Given the description of an element on the screen output the (x, y) to click on. 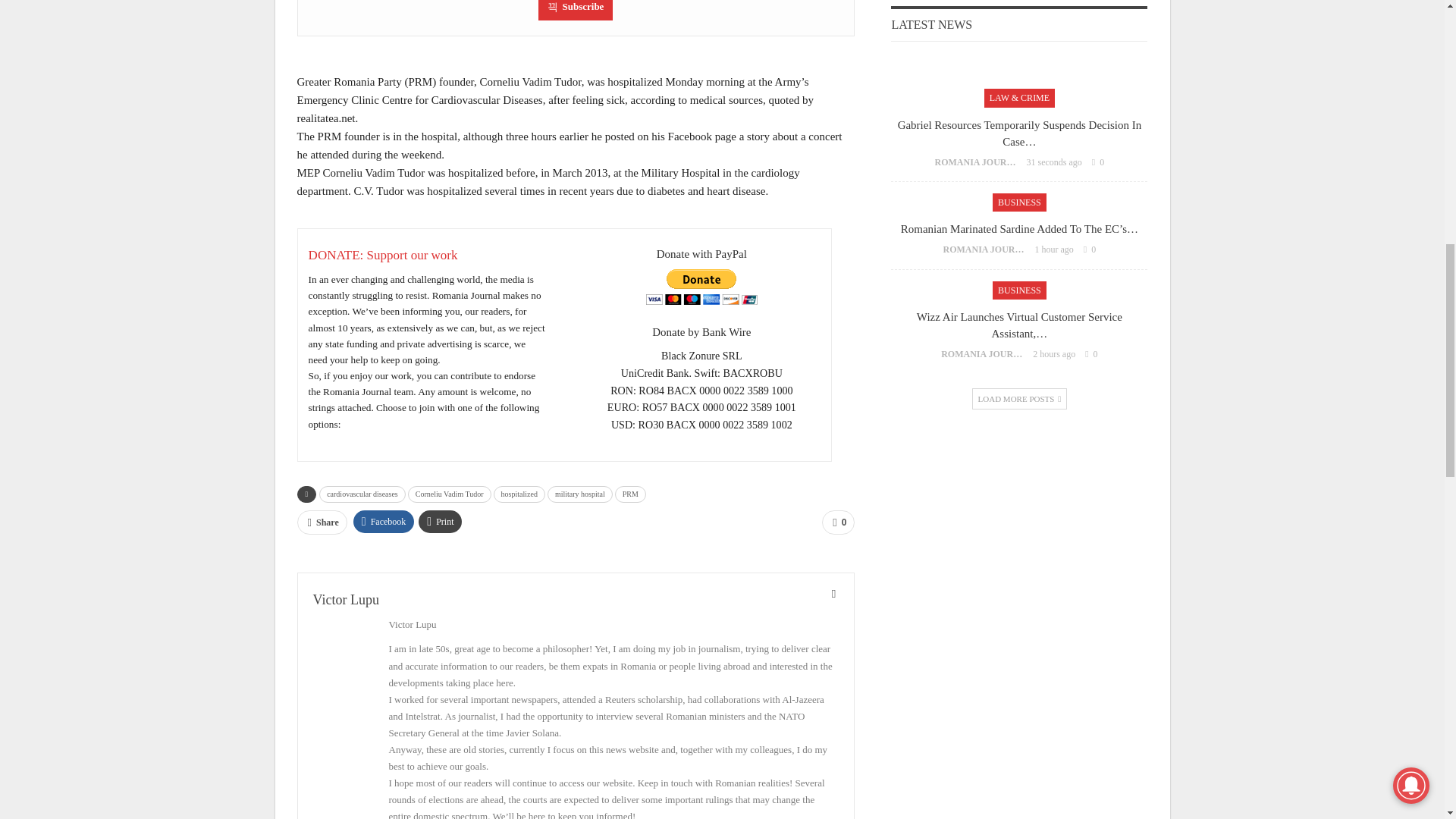
PayPal - The safer, easier way to pay online! (701, 286)
